Given the description of an element on the screen output the (x, y) to click on. 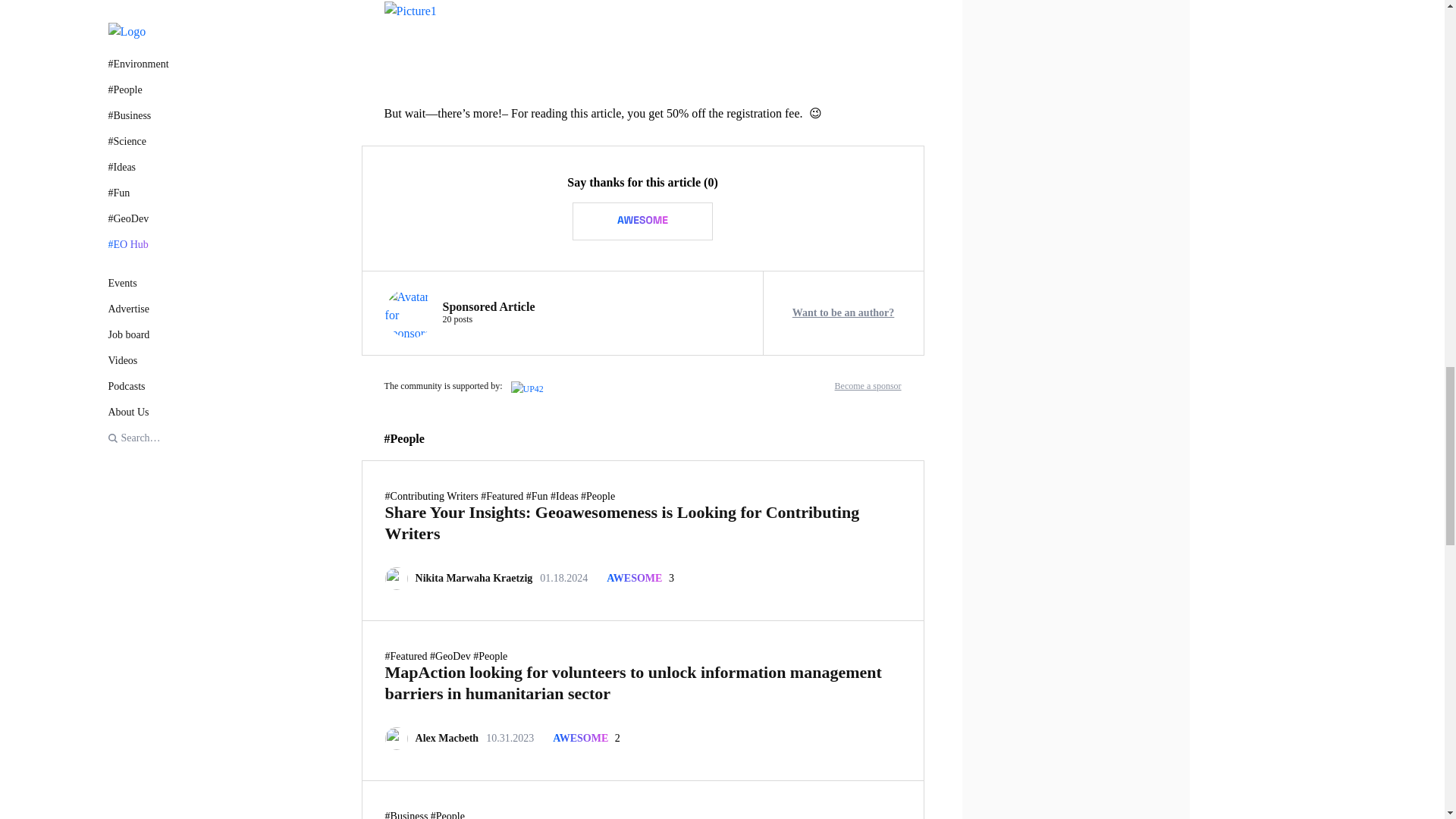
Become a sponsor (867, 385)
Want to be an author? (843, 312)
